Given the description of an element on the screen output the (x, y) to click on. 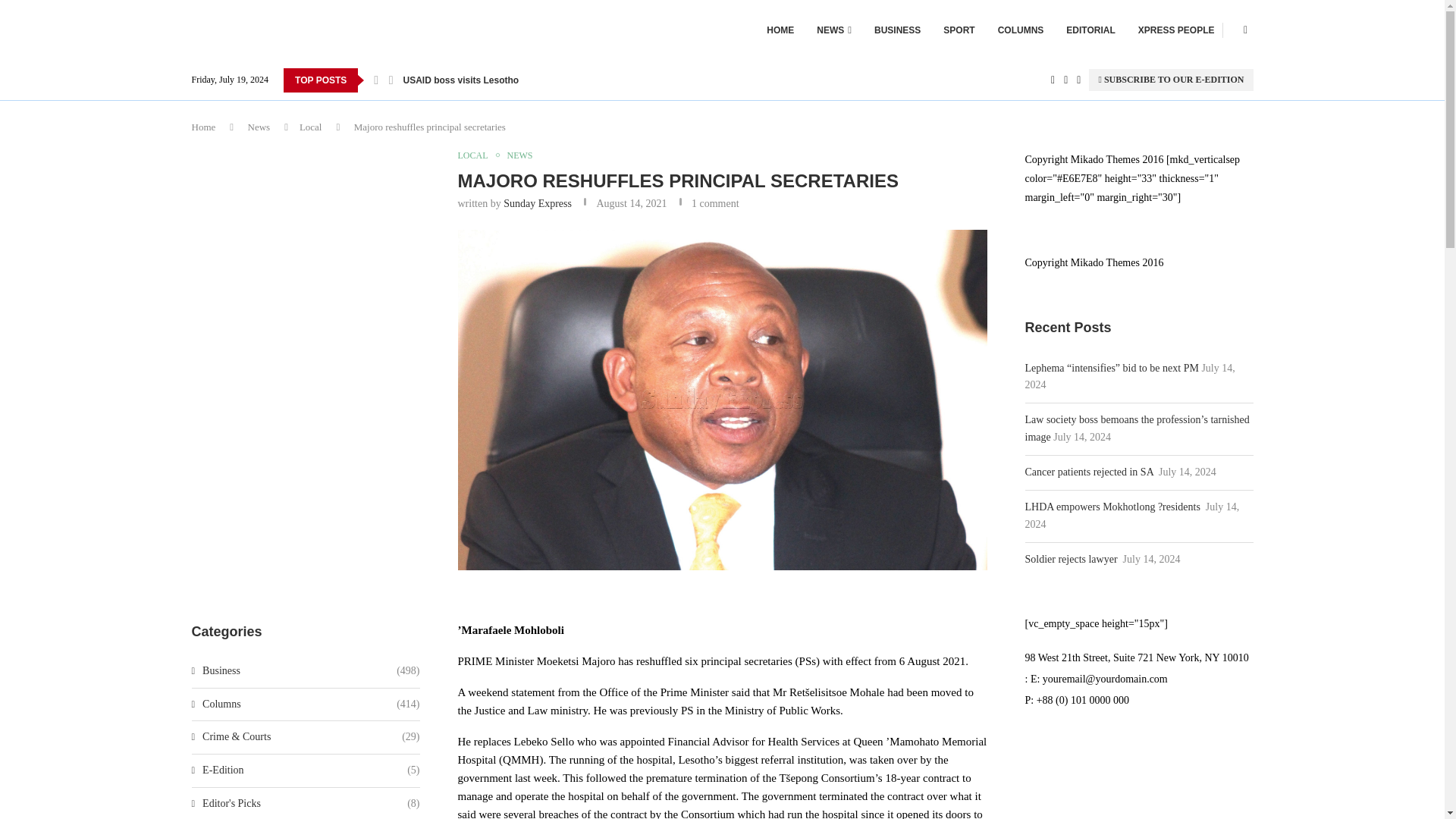
USAID boss visits Lesotho (461, 79)
COLUMNS (1020, 30)
xpress people (1176, 30)
EDITORIAL (1090, 30)
Advertisement (304, 476)
BUSINESS (897, 30)
XPRESS PEOPLE (1176, 30)
